Given the description of an element on the screen output the (x, y) to click on. 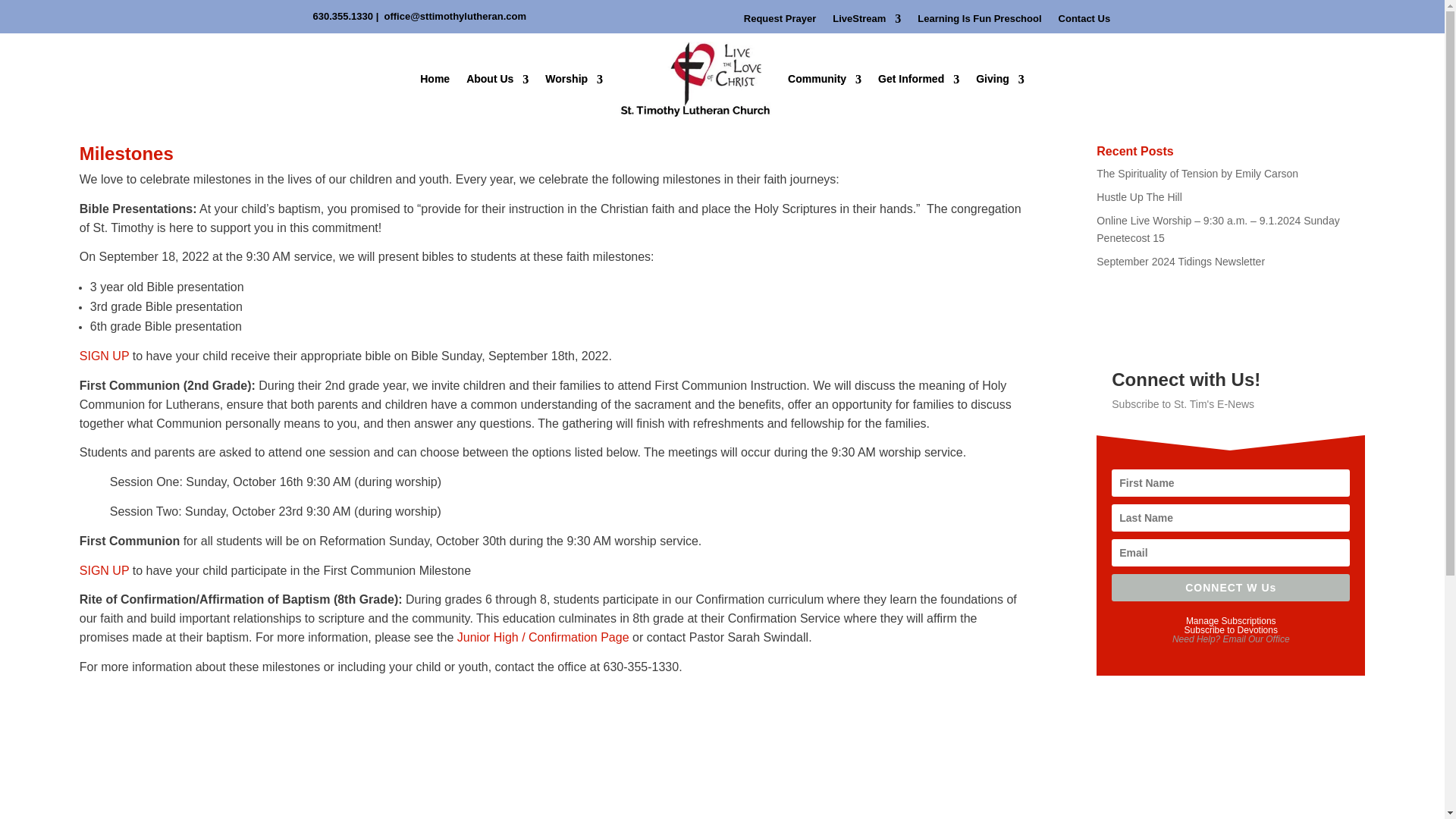
Community (824, 79)
Request Prayer (779, 21)
Get Informed (918, 79)
Learning Is Fun Preschool (979, 21)
Contact Us (1084, 21)
LiveStream (866, 21)
